Given the description of an element on the screen output the (x, y) to click on. 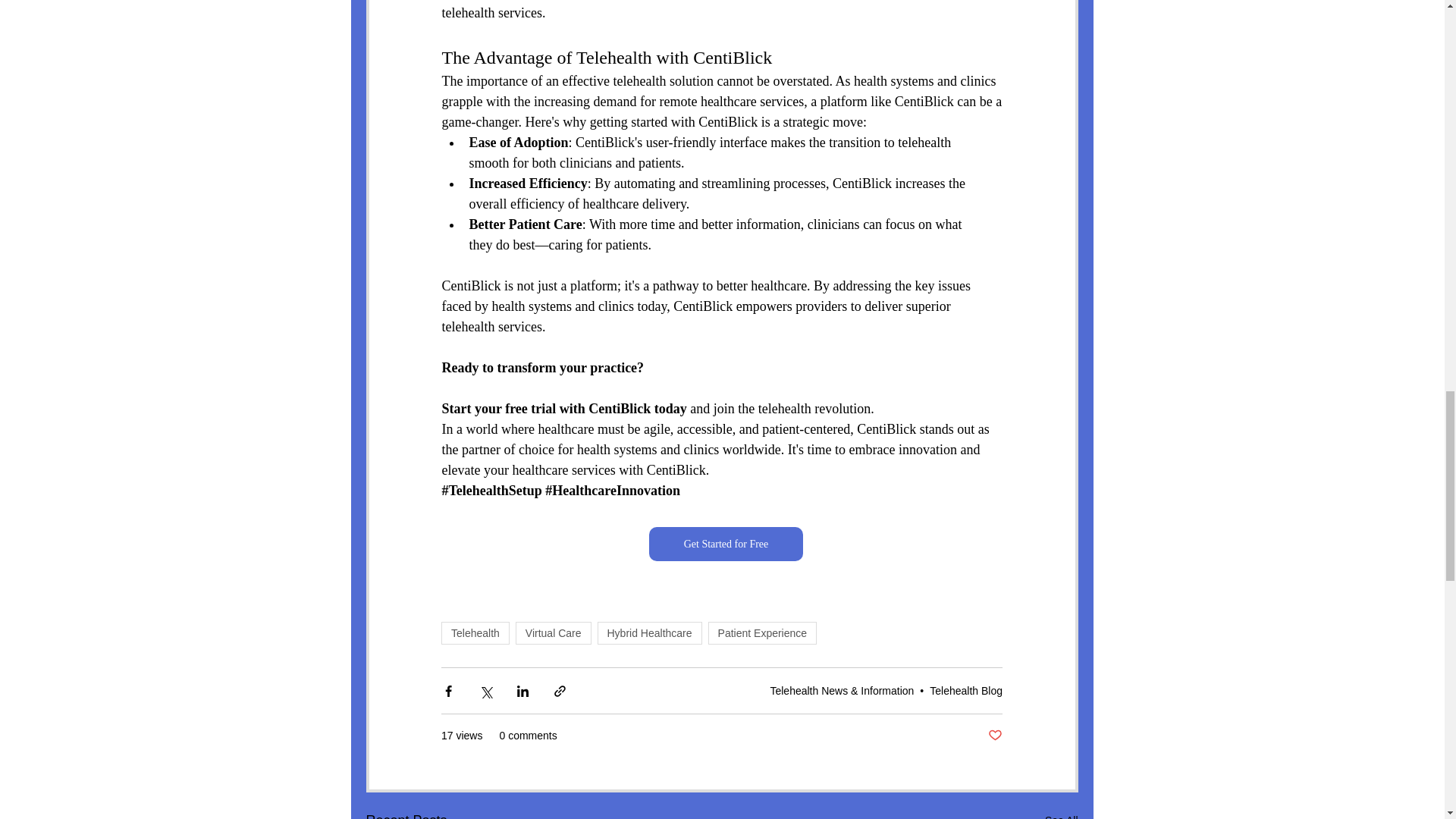
Post not marked as liked (995, 735)
Telehealth Blog (966, 690)
Hybrid Healthcare (648, 632)
See All (1061, 814)
Patient Experience (761, 632)
Virtual Care (553, 632)
Telehealth (475, 632)
Get Started for Free (726, 544)
